Given the description of an element on the screen output the (x, y) to click on. 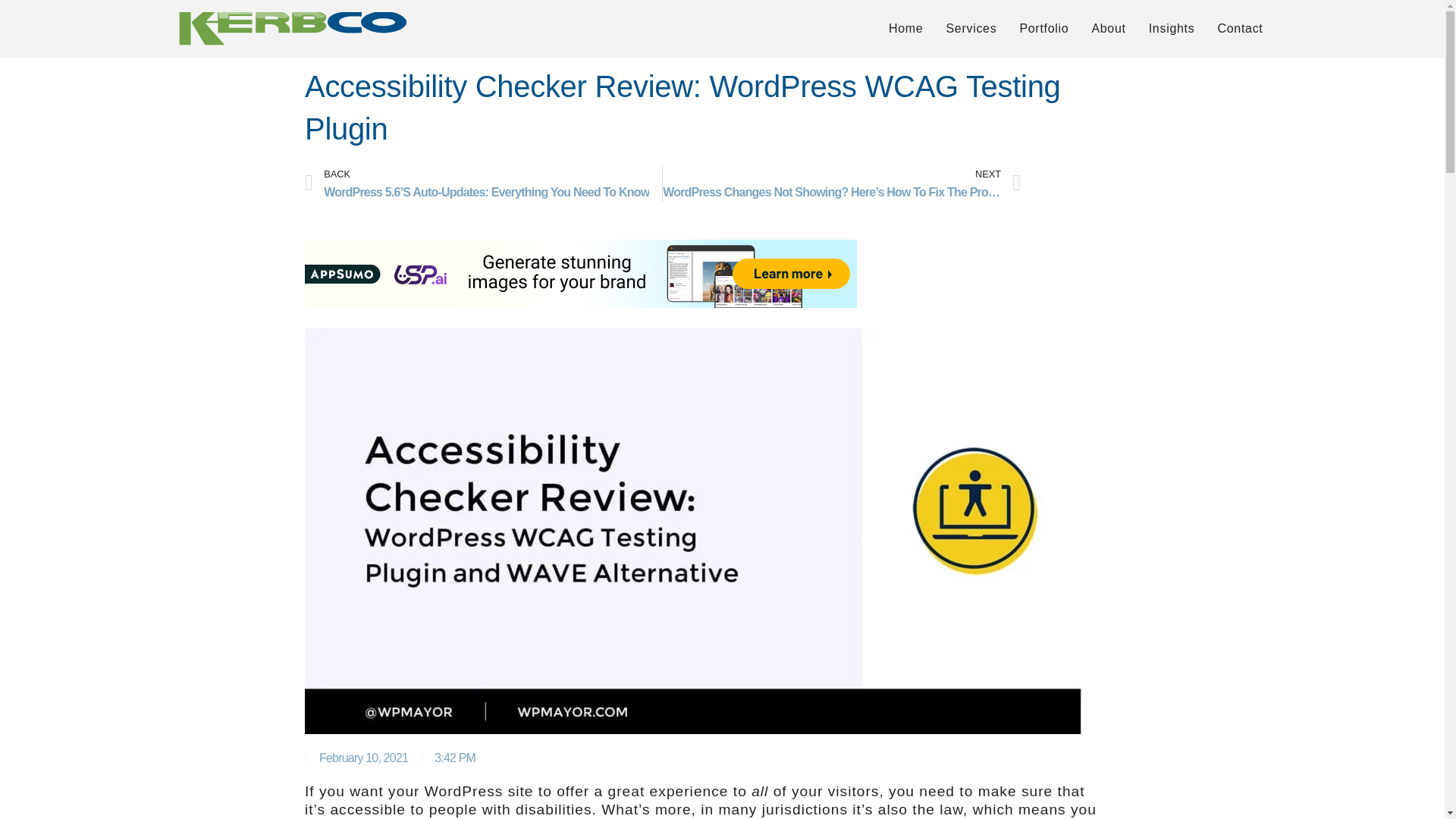
Portfolio (1043, 28)
Services (970, 28)
Insights (1172, 28)
About (1108, 28)
Contact (1239, 28)
Home (905, 28)
